Given the description of an element on the screen output the (x, y) to click on. 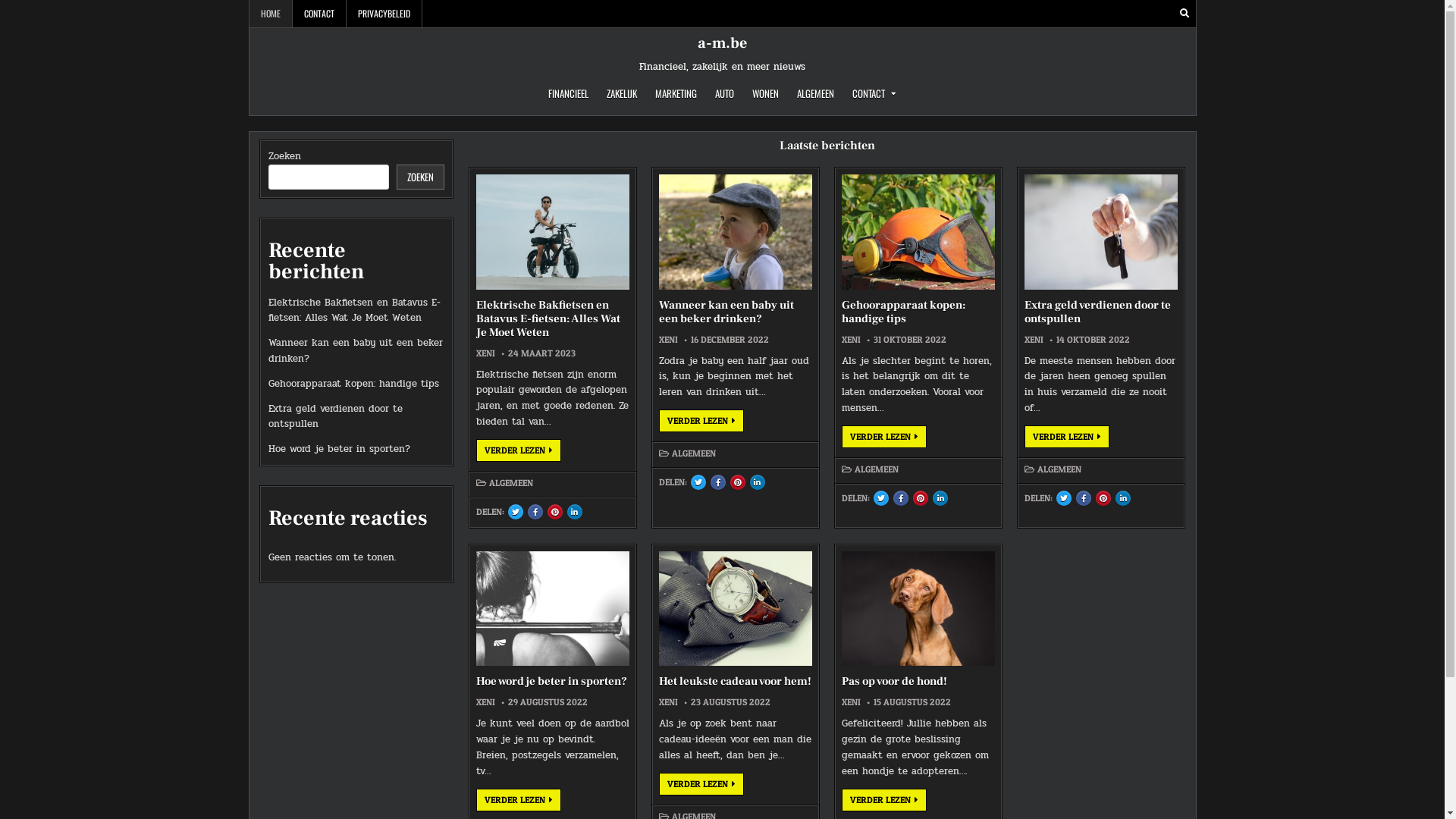
FINANCIEEL Element type: text (568, 93)
XENI Element type: text (667, 339)
XENI Element type: text (485, 352)
ALGEMEEN Element type: text (1059, 468)
SHARE THIS ON LINKEDIN : GEHOORAPPARAAT KOPEN: HANDIGE TIPS Element type: text (939, 497)
ALGEMEEN Element type: text (511, 482)
Permanent Link to Pas op voor de hond! Element type: hover (917, 608)
Permanent Link to Hoe word je beter in sporten? Element type: hover (552, 608)
Wanneer kan een baby uit een beker drinken?  Element type: text (355, 350)
VERDER LEZEN
GEHOORAPPARAAT KOPEN: HANDIGE TIPS Element type: text (883, 436)
Gehoorapparaat kopen: handige tips Element type: text (353, 383)
Hoe word je beter in sporten? Element type: text (339, 448)
Pas op voor de hond! Element type: text (894, 681)
Search Element type: hover (1184, 13)
ZAKELIJK Element type: text (621, 93)
AUTO Element type: text (724, 93)
CONTACT Element type: text (319, 13)
PRIVACYBELEID Element type: text (383, 13)
SHARE THIS ON PINTEREST : GEHOORAPPARAAT KOPEN: HANDIGE TIPS Element type: text (920, 497)
TWEET THIS! : WANNEER KAN EEN BABY UIT EEN BEKER DRINKEN?  Element type: text (698, 481)
VERDER LEZEN
EXTRA GELD VERDIENEN DOOR TE ONTSPULLEN Element type: text (1066, 436)
Extra geld verdienen door te ontspullen Element type: text (1097, 312)
VERDER LEZEN
HOE WORD JE BETER IN SPORTEN? Element type: text (518, 799)
TWEET THIS! : GEHOORAPPARAAT KOPEN: HANDIGE TIPS Element type: text (880, 497)
XENI Element type: text (850, 339)
VERDER LEZEN
WANNEER KAN EEN BABY UIT EEN BEKER DRINKEN?  Element type: text (700, 420)
ZOEKEN Element type: text (420, 176)
WONEN Element type: text (765, 93)
HOME Element type: text (269, 13)
ALGEMEEN Element type: text (693, 453)
Permanent Link to Het leukste cadeau voor hem! Element type: hover (735, 608)
XENI Element type: text (1033, 339)
Hoe word je beter in sporten? Element type: text (551, 681)
Wanneer kan een baby uit een beker drinken?  Element type: text (725, 312)
Gehoorapparaat kopen: handige tips Element type: text (903, 312)
Permanent Link to Extra geld verdienen door te ontspullen Element type: hover (1100, 231)
VERDER LEZEN
HET LEUKSTE CADEAU VOOR HEM! Element type: text (700, 783)
VERDER LEZEN
PAS OP VOOR DE HOND! Element type: text (883, 799)
Permanent Link to Gehoorapparaat kopen: handige tips Element type: hover (917, 231)
a-m.be Element type: text (721, 43)
XENI Element type: text (485, 701)
XENI Element type: text (850, 701)
SHARE THIS ON FACEBOOK : GEHOORAPPARAAT KOPEN: HANDIGE TIPS Element type: text (900, 497)
MARKETING Element type: text (676, 93)
TWEET THIS! : EXTRA GELD VERDIENEN DOOR TE ONTSPULLEN Element type: text (1063, 497)
CONTACT Element type: text (874, 93)
Extra geld verdienen door te ontspullen Element type: text (335, 416)
Het leukste cadeau voor hem! Element type: text (734, 681)
XENI Element type: text (667, 701)
ALGEMEEN Element type: text (876, 468)
ALGEMEEN Element type: text (815, 93)
